Given the description of an element on the screen output the (x, y) to click on. 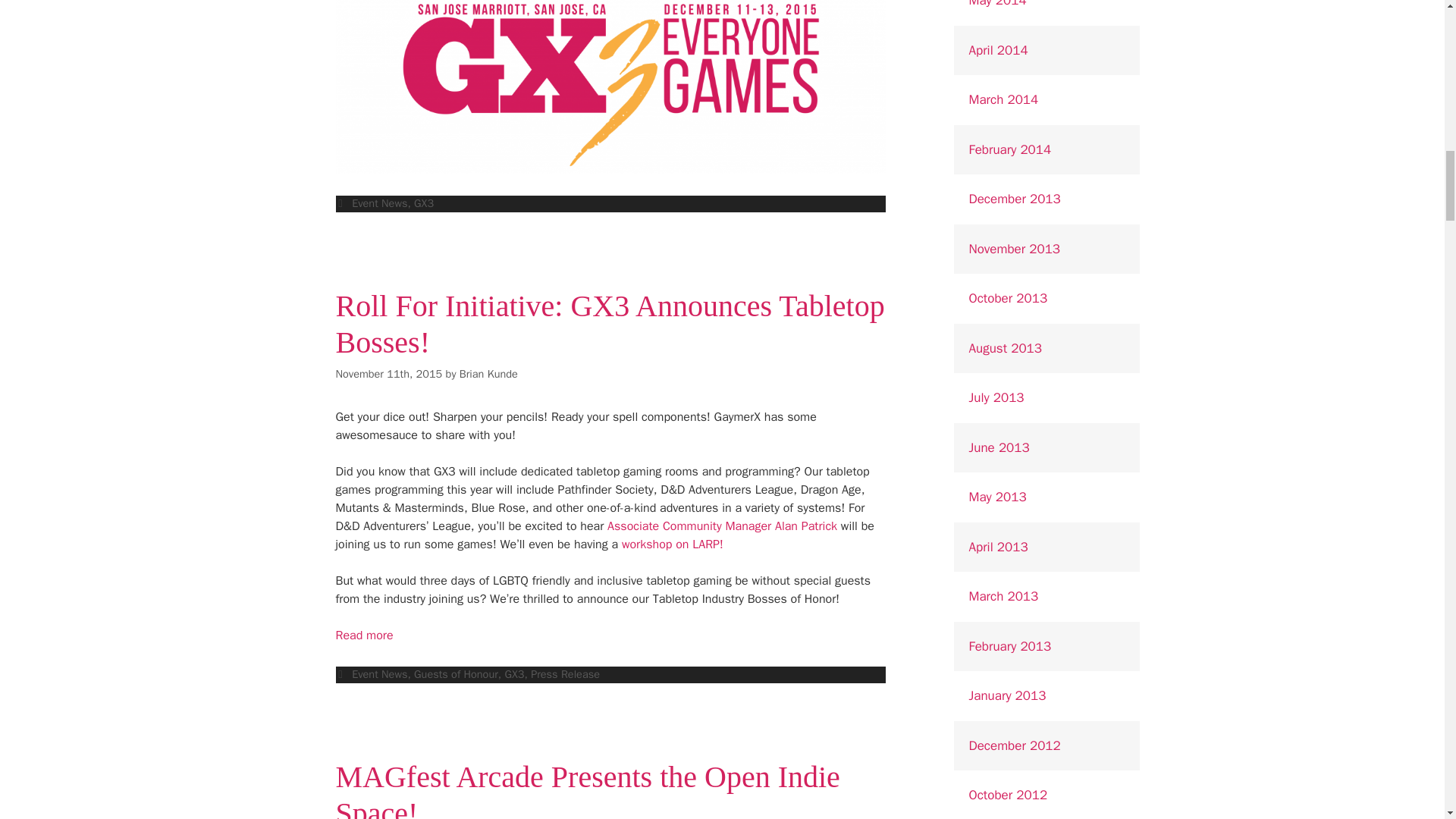
MAGfest Arcade Presents the Open Indie Space! (587, 789)
Event News (379, 673)
Guests of Honour (455, 673)
Roll For Initiative: GX3 Announces Tabletop Bosses! (363, 635)
Press Release (565, 673)
Roll For Initiative: GX3 Announces Tabletop Bosses! (608, 324)
GX3 (513, 673)
Brian Kunde (489, 373)
workshop on LARP! (672, 544)
View all posts by Brian Kunde (489, 373)
GX3 (423, 202)
Event News (379, 202)
Read more (363, 635)
Associate Community Manager Alan Patrick (724, 525)
